Given the description of an element on the screen output the (x, y) to click on. 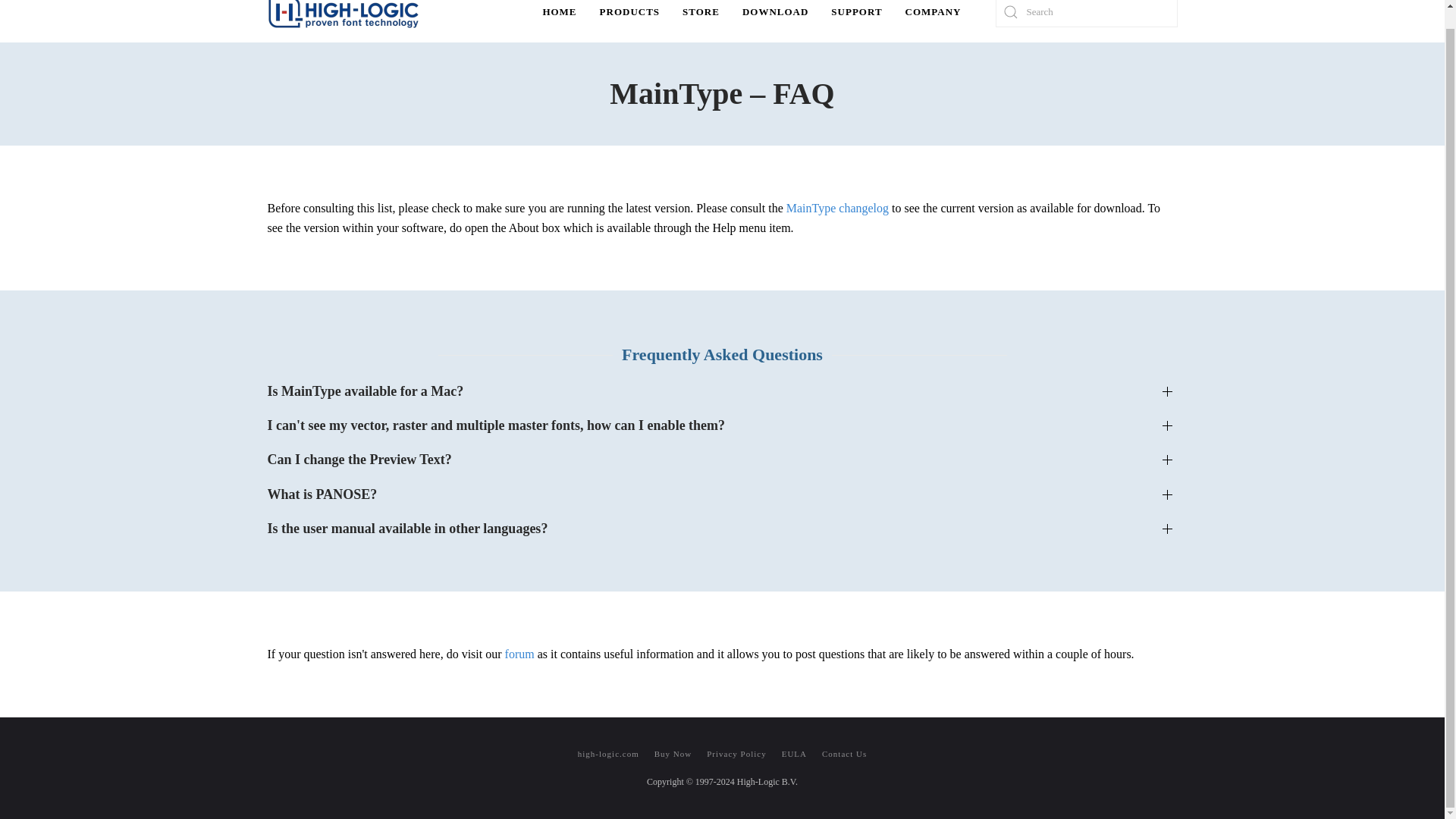
PRODUCTS (629, 21)
STORE (700, 21)
SUPPORT (856, 21)
HOME (559, 21)
DOWNLOAD (774, 21)
